Given the description of an element on the screen output the (x, y) to click on. 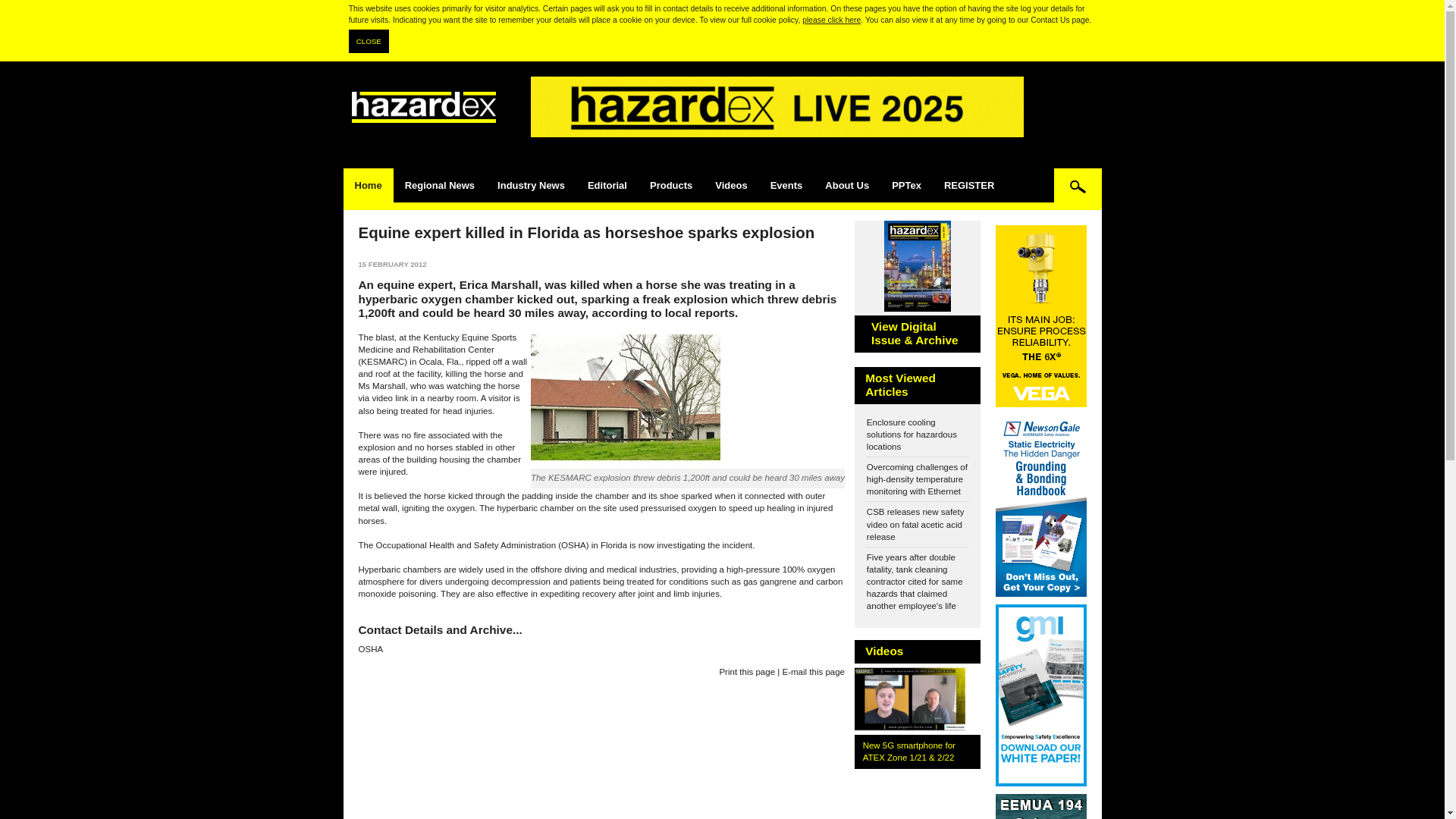
Home (367, 185)
Industry News (531, 185)
please click here (831, 19)
Editorial (607, 185)
CLOSE (368, 41)
Regional News (439, 185)
